Given the description of an element on the screen output the (x, y) to click on. 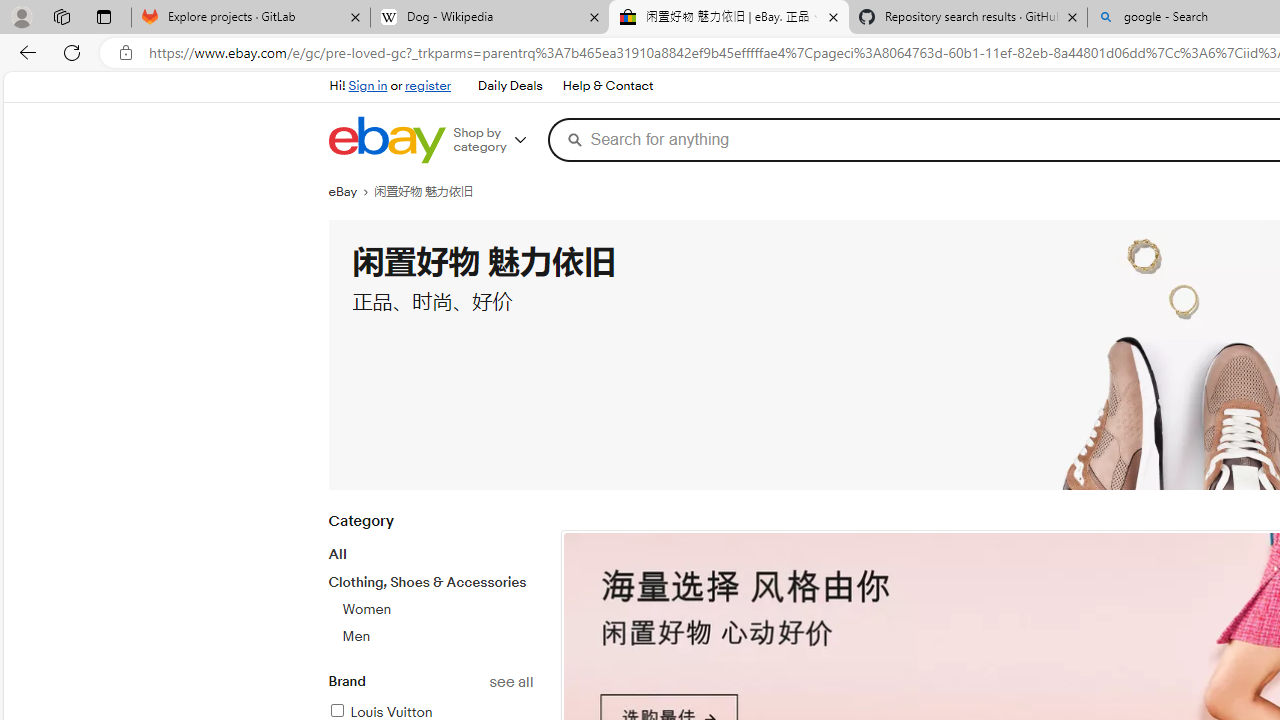
Men (437, 636)
CategoryAllClothing, Shoes & AccessoriesWomenMen (430, 590)
Daily Deals (509, 86)
Men (356, 636)
eBay (351, 191)
Shop by category (496, 140)
eBay (351, 192)
register (427, 85)
eBay Home (386, 139)
